Given the description of an element on the screen output the (x, y) to click on. 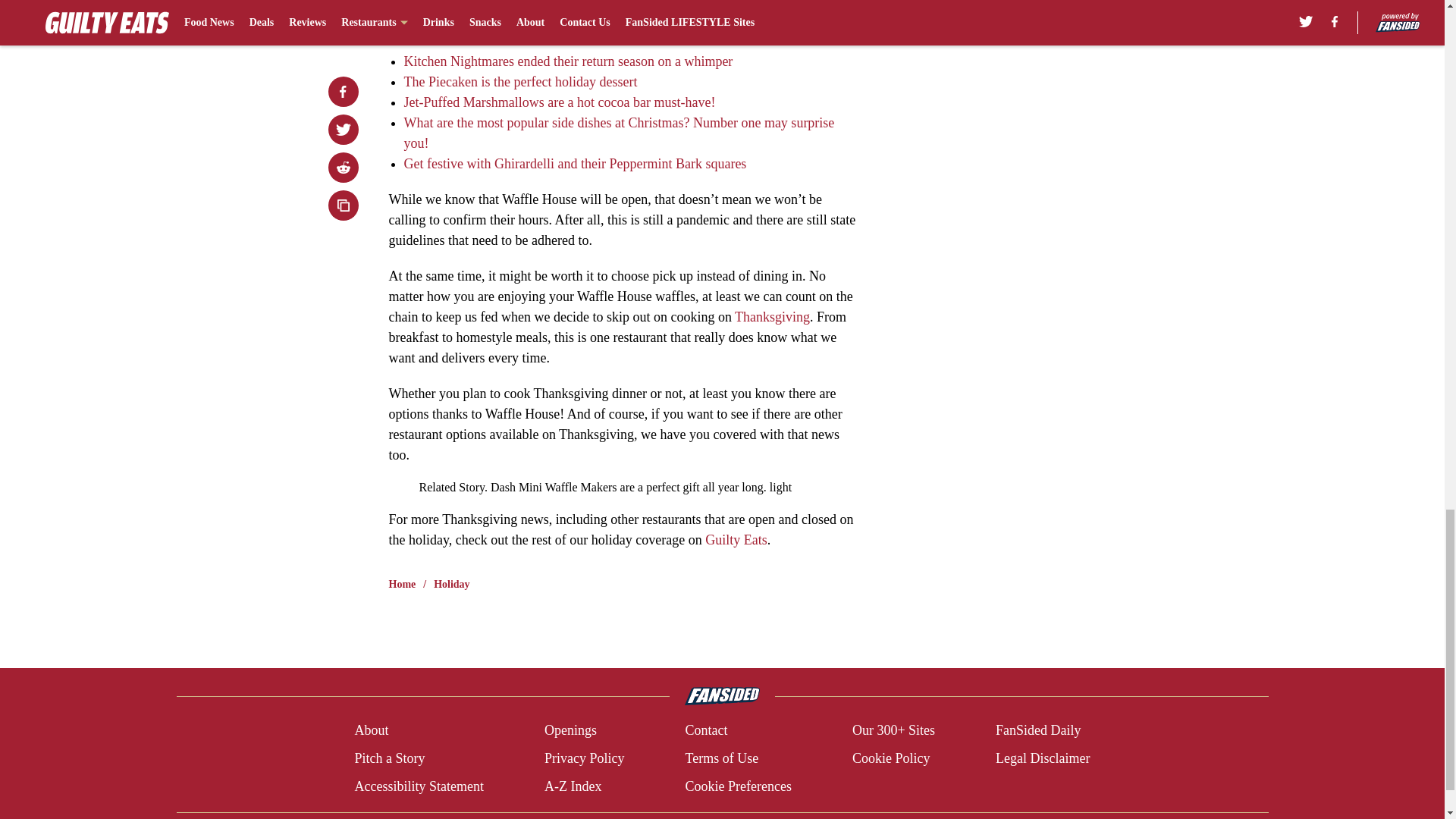
Openings (570, 730)
Contact (705, 730)
Thanksgiving (772, 316)
FanSided Daily (1038, 730)
About (370, 730)
Kitchen Nightmares ended their return season on a whimper (567, 61)
Guilty Eats (735, 539)
The Piecaken is the perfect holiday dessert (520, 81)
Jet-Puffed Marshmallows are a hot cocoa bar must-have! (558, 102)
